Given the description of an element on the screen output the (x, y) to click on. 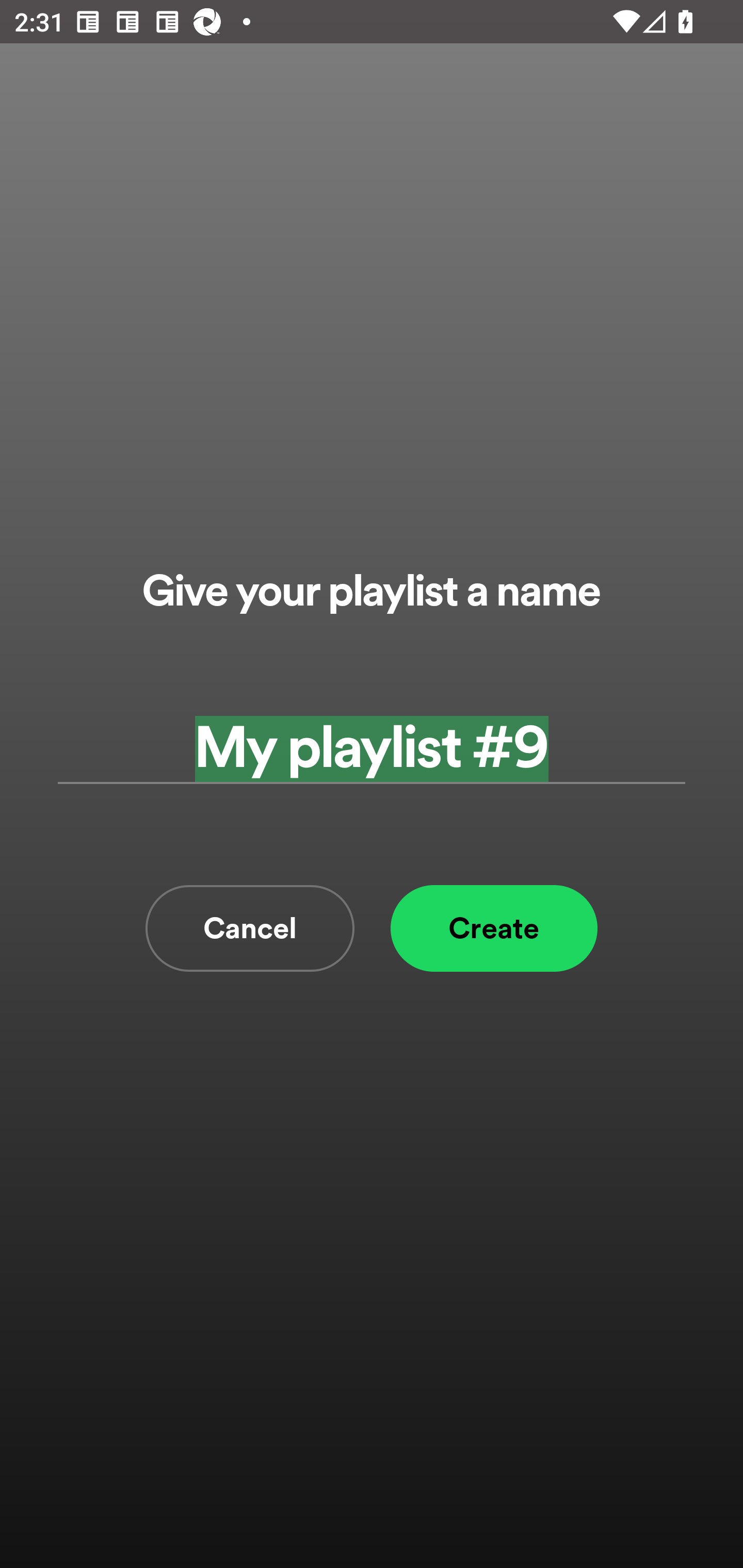
My playlist #9 Add a playlist name (371, 749)
Cancel (249, 928)
Create (493, 928)
